Given the description of an element on the screen output the (x, y) to click on. 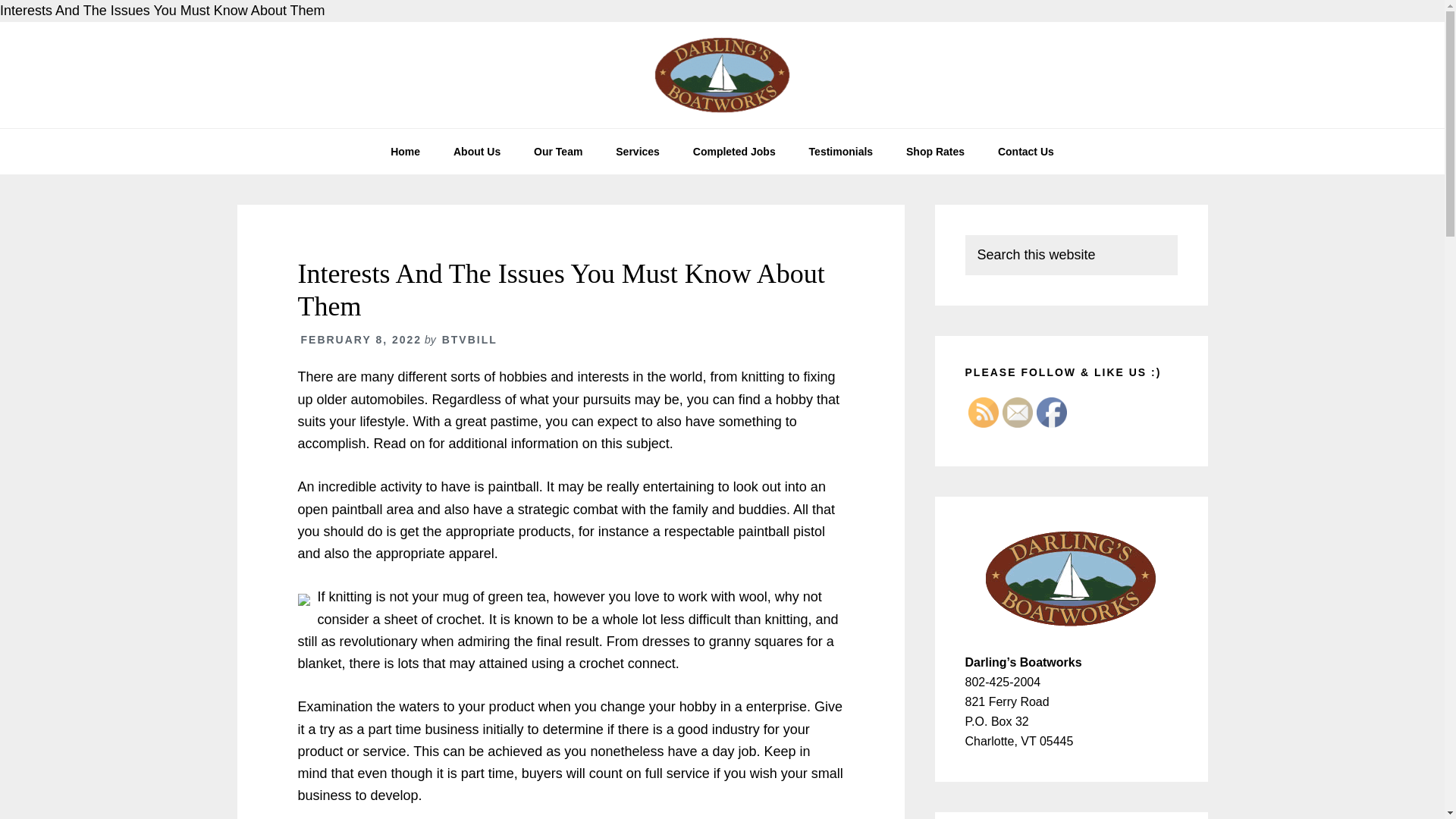
Darling's Boatworks (721, 74)
About Us (476, 151)
Services (637, 151)
Our Team (557, 151)
Contact Us (1025, 151)
Testimonials (840, 151)
RSS (982, 412)
Home (405, 151)
